Given the description of an element on the screen output the (x, y) to click on. 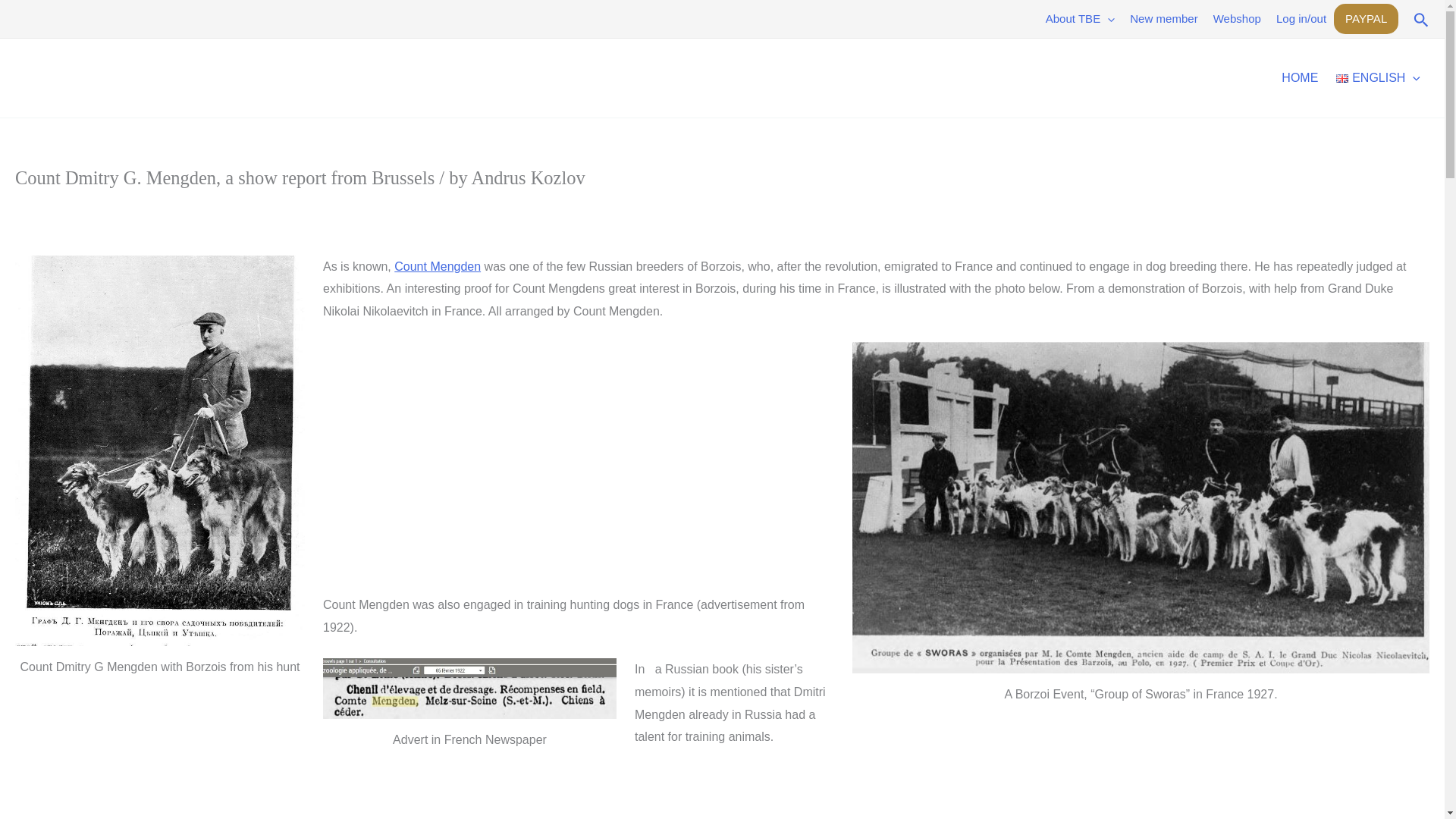
HOME (1299, 77)
Webshop (1236, 18)
About TBE (1080, 18)
Search (1421, 18)
PAYPAL (1365, 19)
ENGLISH (1377, 77)
New member (1163, 18)
